Given the description of an element on the screen output the (x, y) to click on. 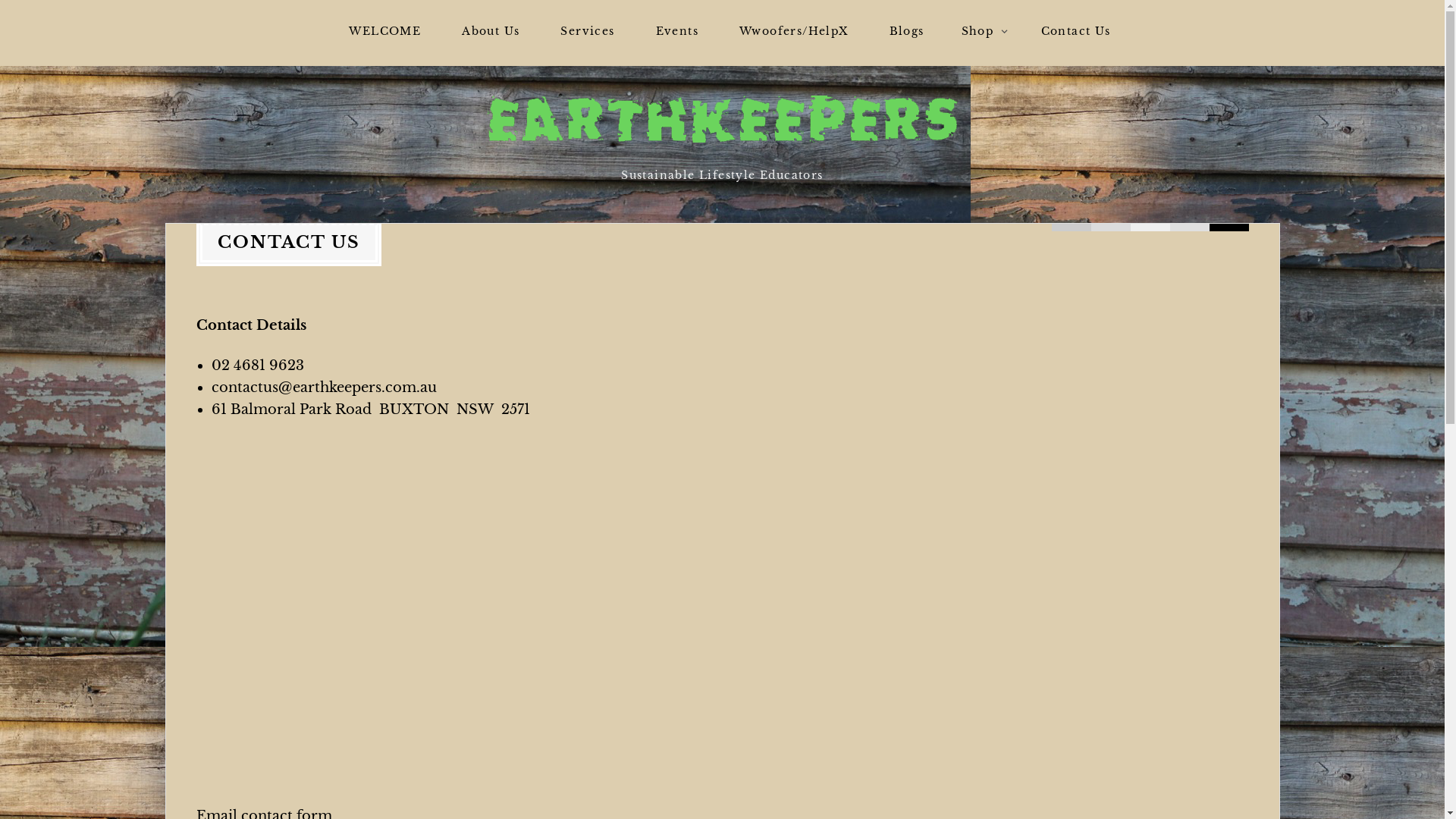
Blogs Element type: text (906, 31)
About Us Element type: text (490, 31)
WELCOME Element type: text (384, 31)
Wwoofers/HelpX Element type: text (793, 31)
Events Element type: text (677, 31)
Contact Us Element type: text (1075, 31)
Shop Element type: text (982, 31)
Services Element type: text (587, 31)
